Given the description of an element on the screen output the (x, y) to click on. 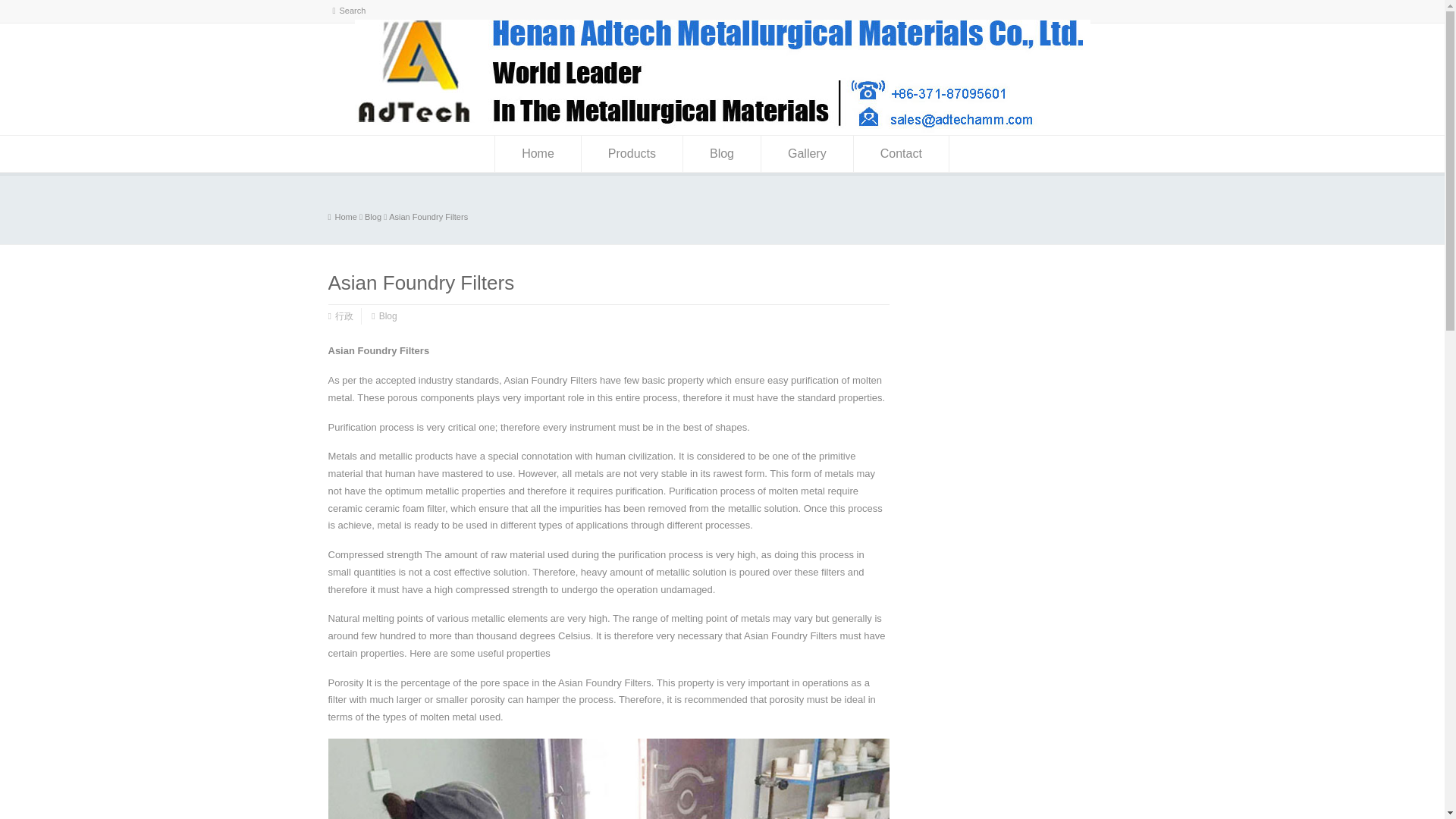
View all posts in Blog (373, 216)
Home (537, 153)
Products (631, 153)
Asian Foundry Filters (427, 216)
Gallery (807, 153)
Blog (387, 316)
Aluminum casting filter (722, 129)
Blog (373, 216)
Aluminum casting filter (345, 216)
Blog (721, 153)
